Given the description of an element on the screen output the (x, y) to click on. 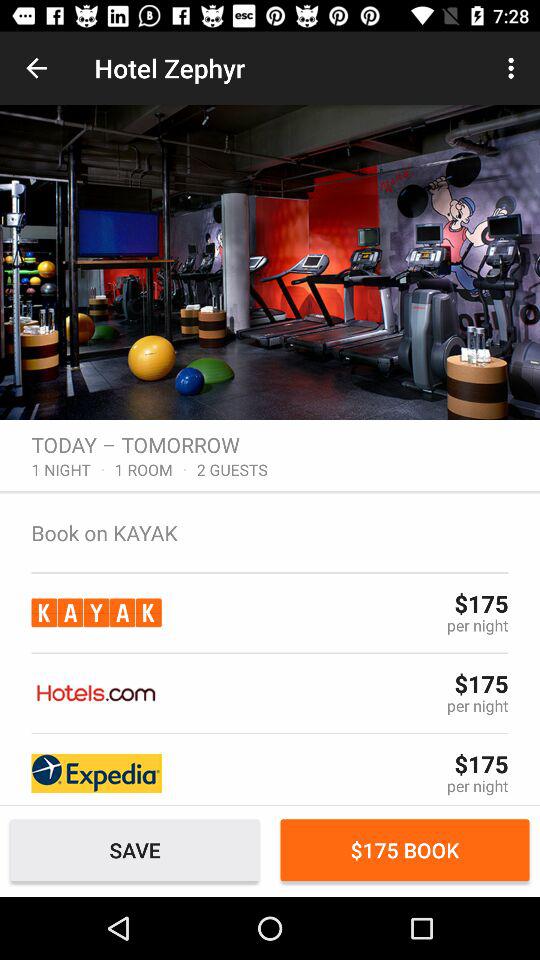
swipe to save item (134, 850)
